Given the description of an element on the screen output the (x, y) to click on. 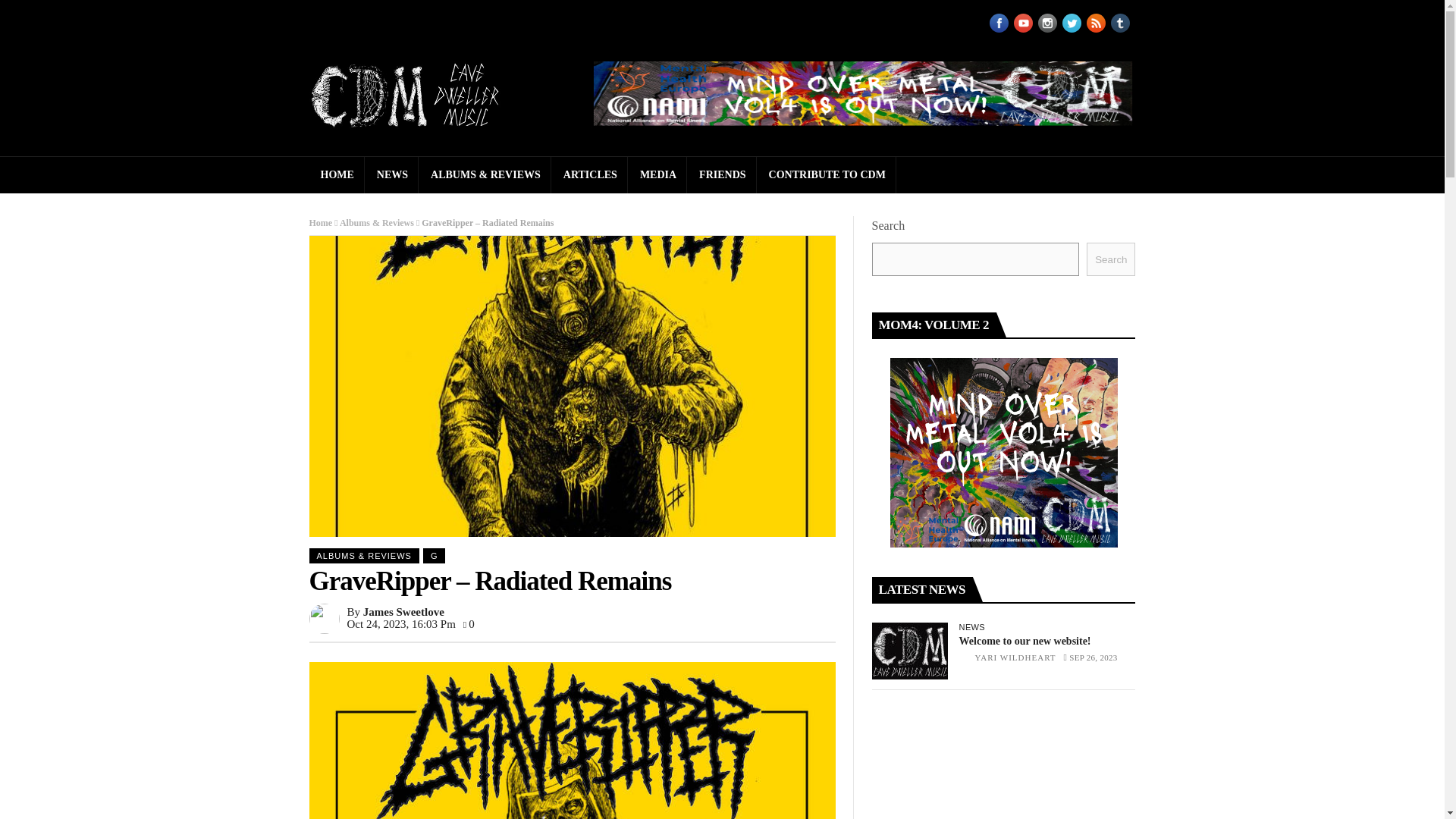
NEWS (392, 175)
Welcome to our new website! (909, 650)
Posts by Yari Wildheart (1016, 656)
HOME (336, 175)
Posts by James Sweetlove (403, 612)
